Given the description of an element on the screen output the (x, y) to click on. 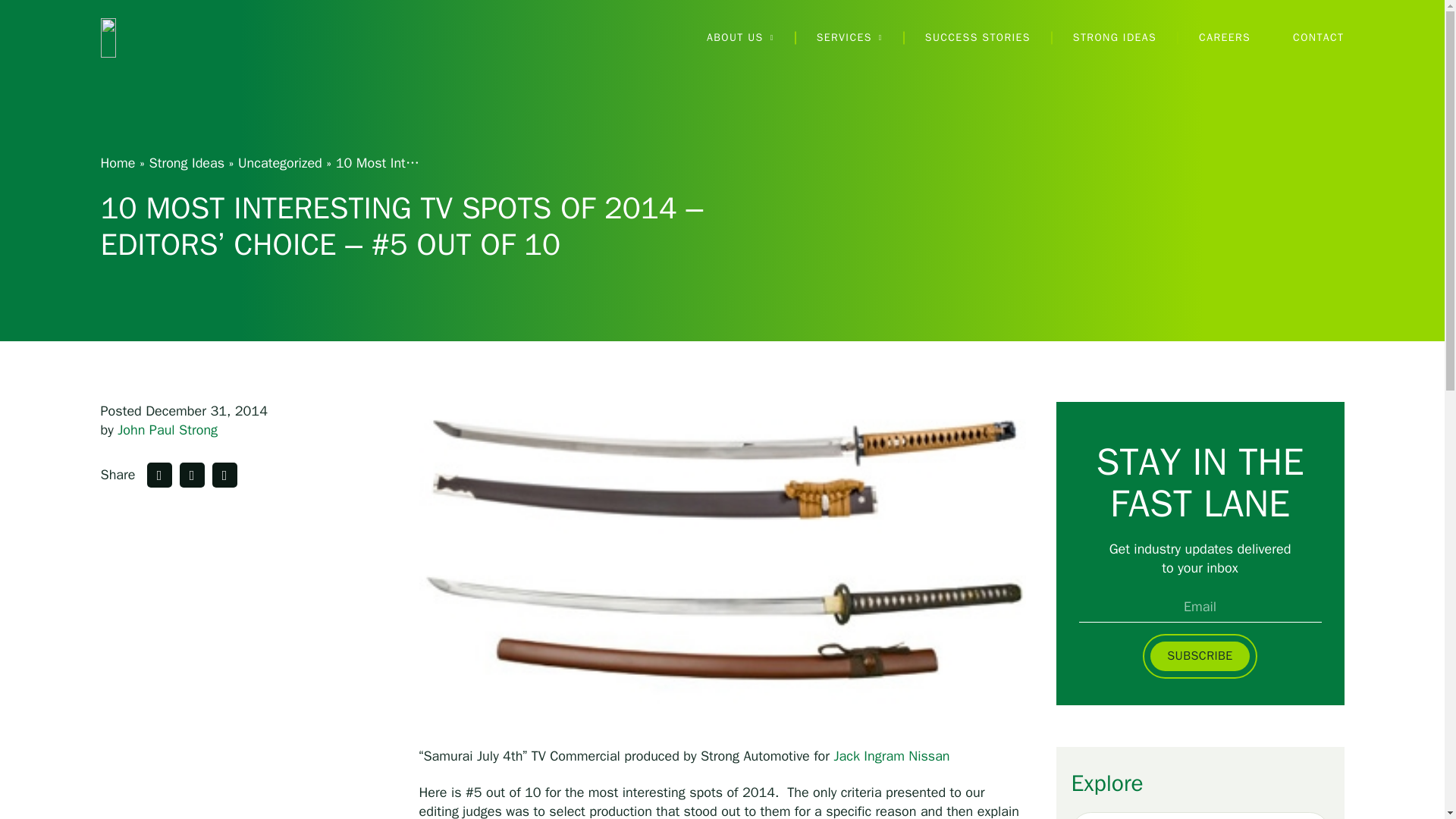
Strong Automotive (178, 37)
CAREERS (1224, 37)
STRONG IDEAS (1115, 37)
SERVICES (850, 37)
CONTACT (1318, 37)
ABOUT US (740, 37)
SUCCESS STORIES (977, 37)
